Given the description of an element on the screen output the (x, y) to click on. 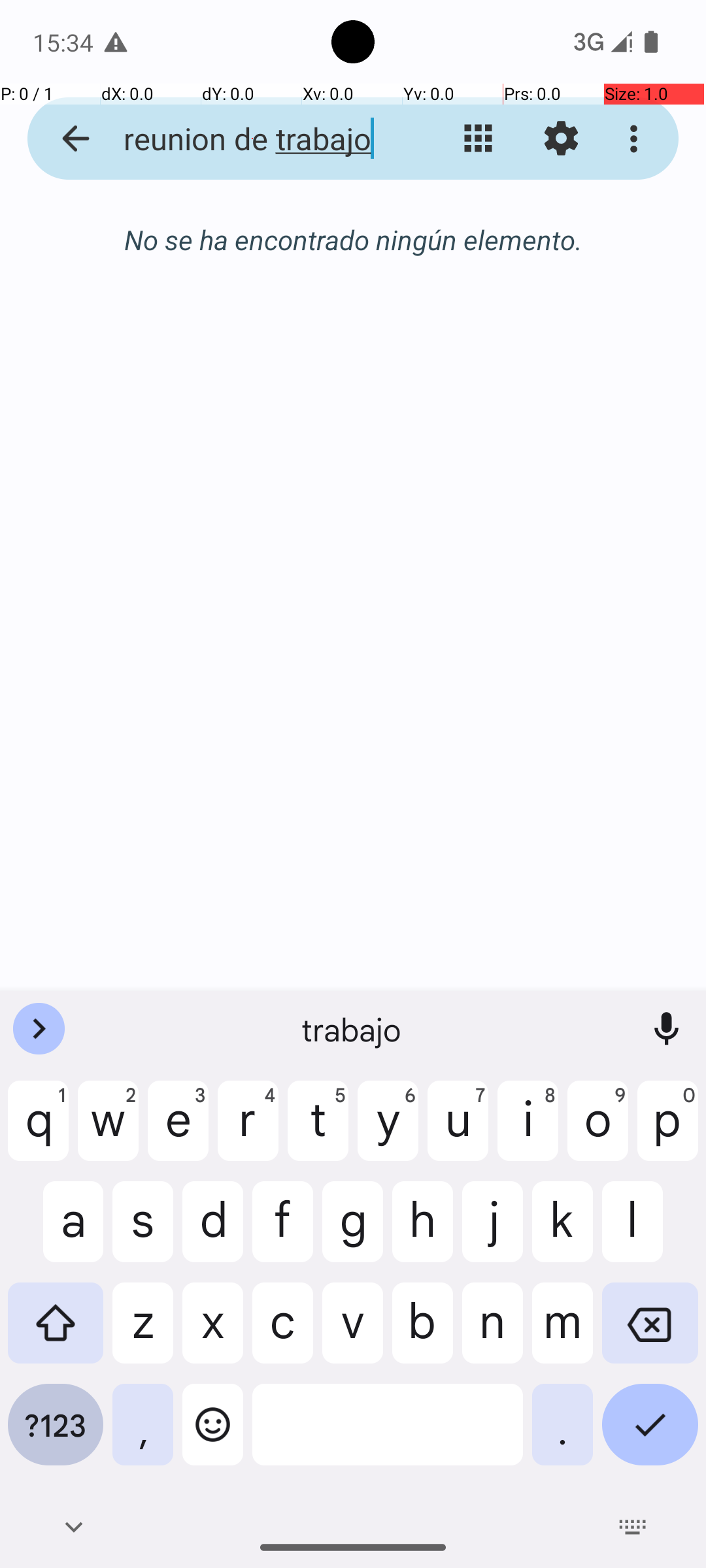
reunion de trabajo Element type: android.widget.EditText (252, 138)
Cambiar vista Element type: android.widget.Button (477, 138)
Ajustes Element type: android.widget.Button (560, 138)
Más opciones Element type: android.widget.ImageView (636, 138)
Nuevo evento Element type: android.widget.ImageButton (630, 915)
Octubre Element type: android.widget.TextView (352, 239)
No se ha encontrado ningún elemento. Element type: android.widget.TextView (353, 239)
trabajo Element type: android.widget.FrameLayout (352, 1028)
